Given the description of an element on the screen output the (x, y) to click on. 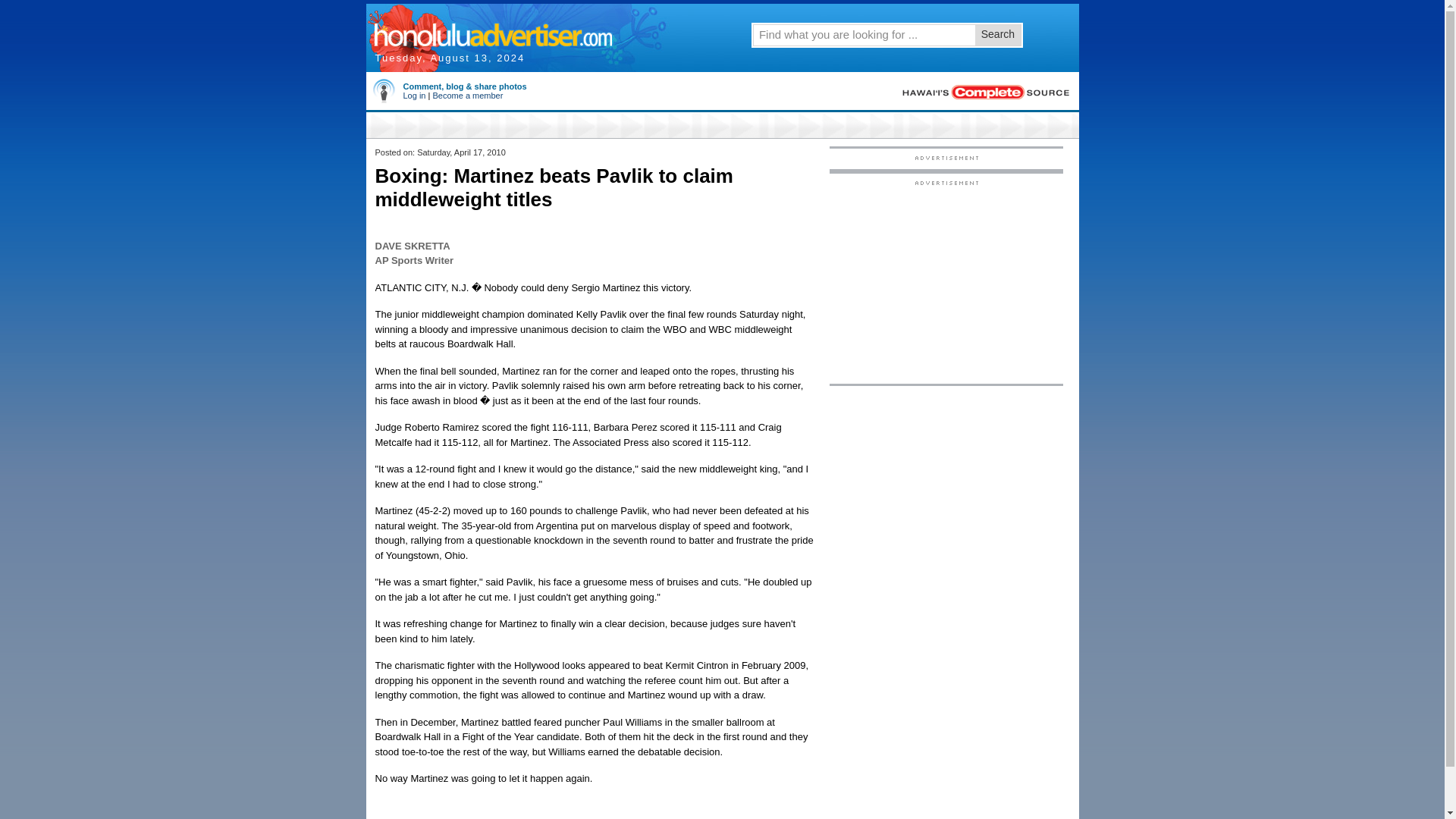
Find what you are looking for ... (863, 34)
Become a member (467, 94)
Search (997, 34)
Log in (414, 94)
Advertisement (945, 280)
